Given the description of an element on the screen output the (x, y) to click on. 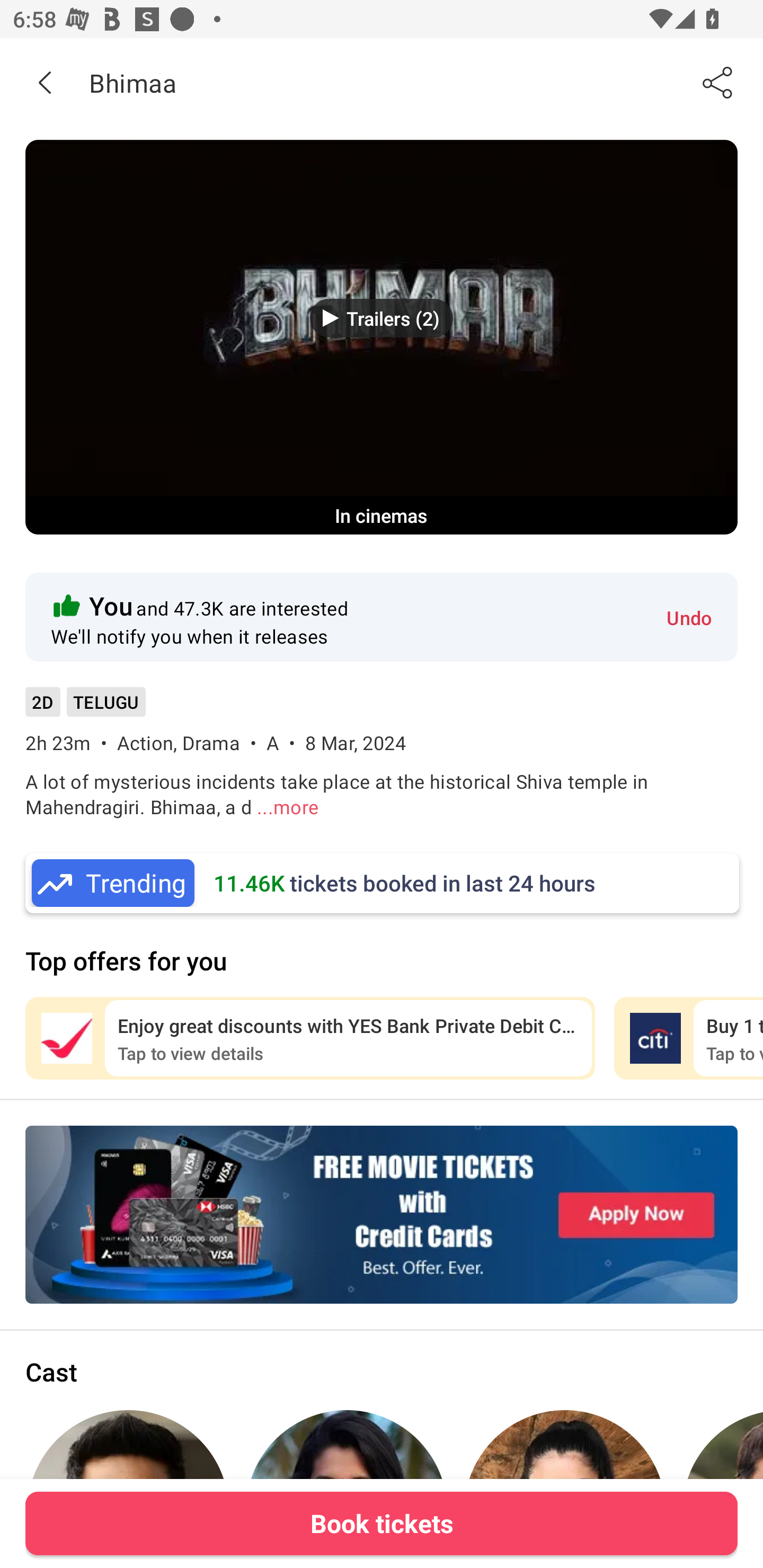
Back (44, 82)
Share (718, 82)
Movie Banner Trailers (2) In cinemas (381, 336)
Trailers (2) (381, 318)
Undo (688, 616)
2D TELUGU (85, 707)
Book tickets (381, 1523)
